Given the description of an element on the screen output the (x, y) to click on. 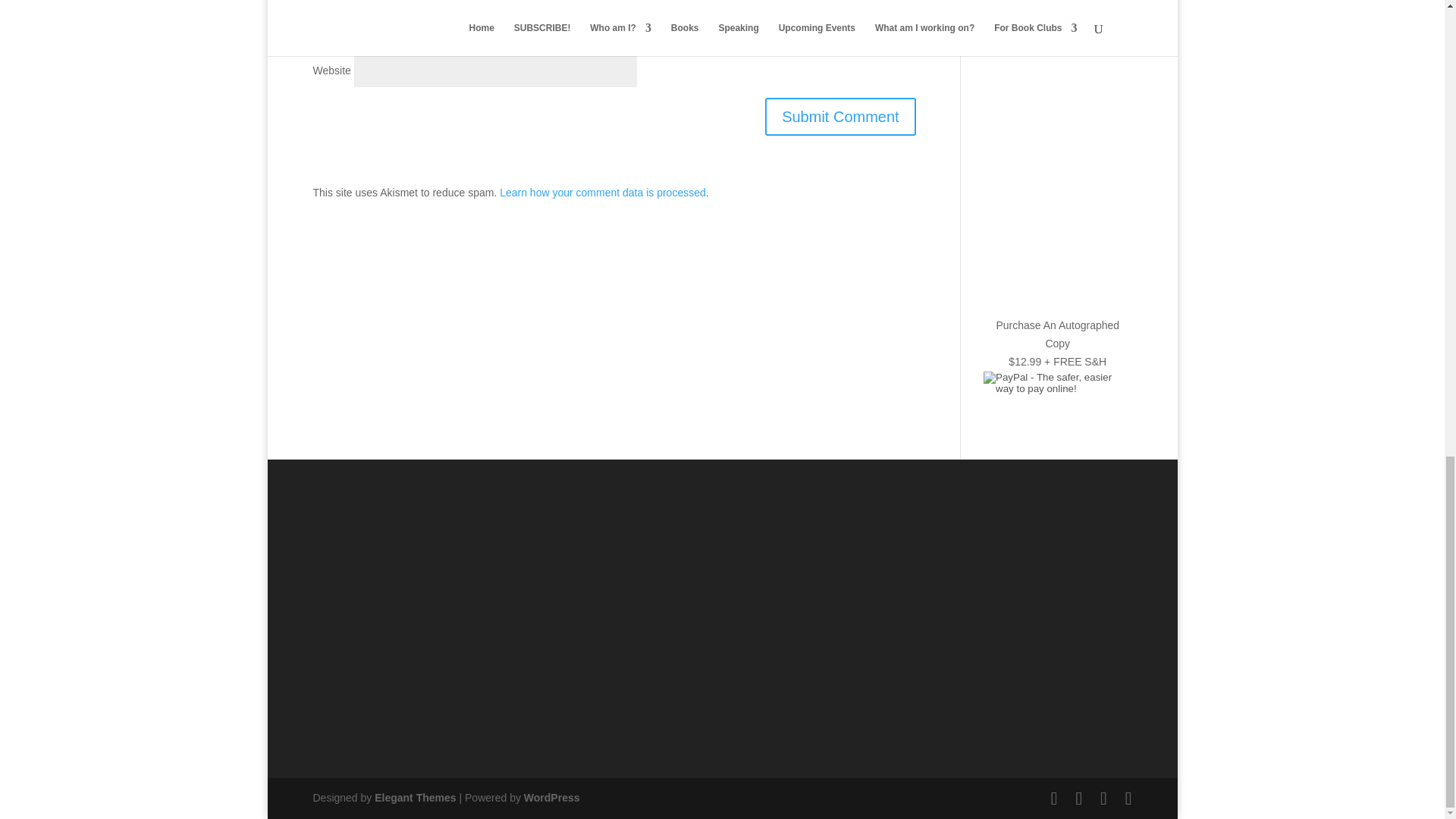
Elegant Themes (414, 797)
Premium WordPress Themes (414, 797)
WordPress (551, 797)
Submit Comment (840, 116)
Learn how your comment data is processed (602, 192)
Submit Comment (840, 116)
